Given the description of an element on the screen output the (x, y) to click on. 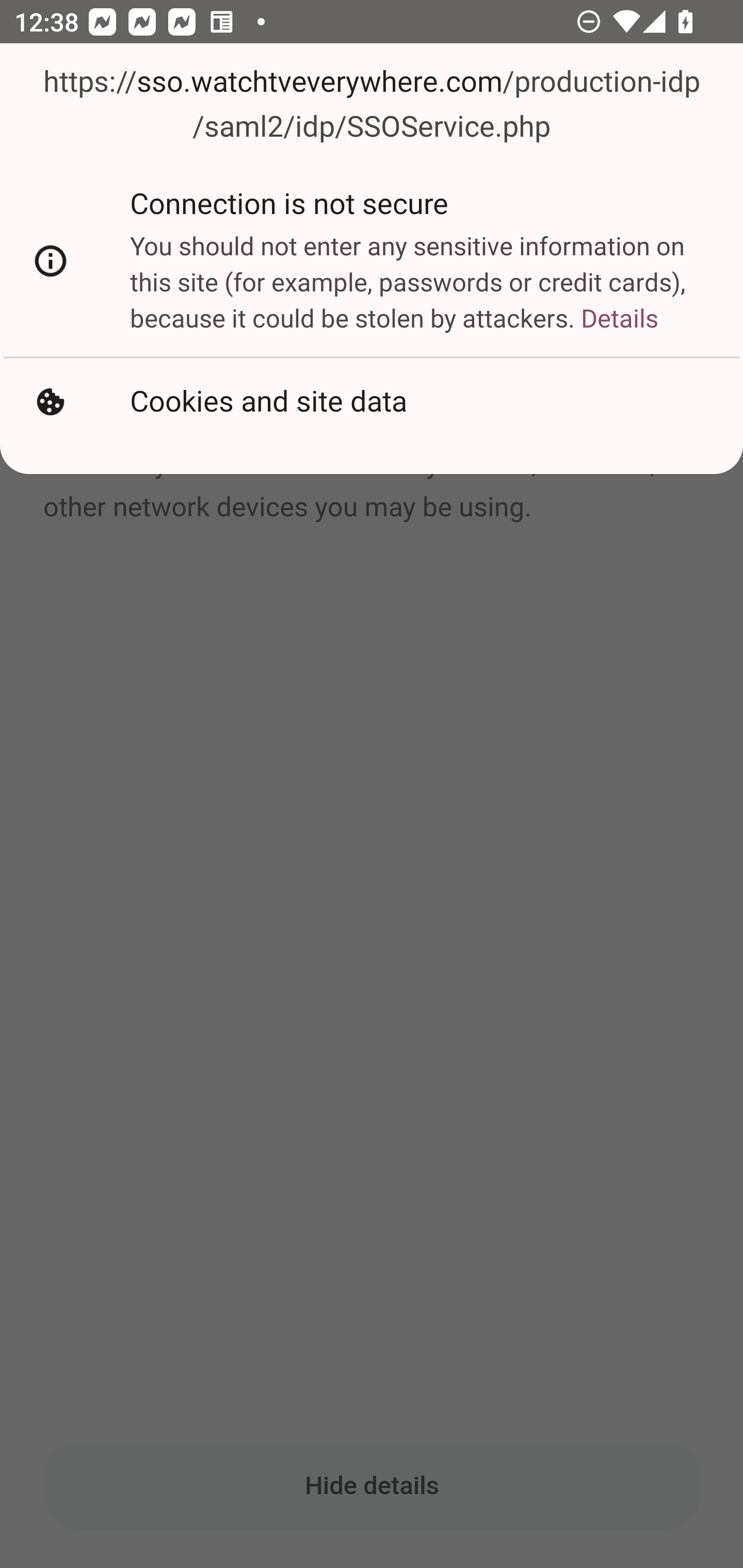
Cookies and site data (371, 402)
